Given the description of an element on the screen output the (x, y) to click on. 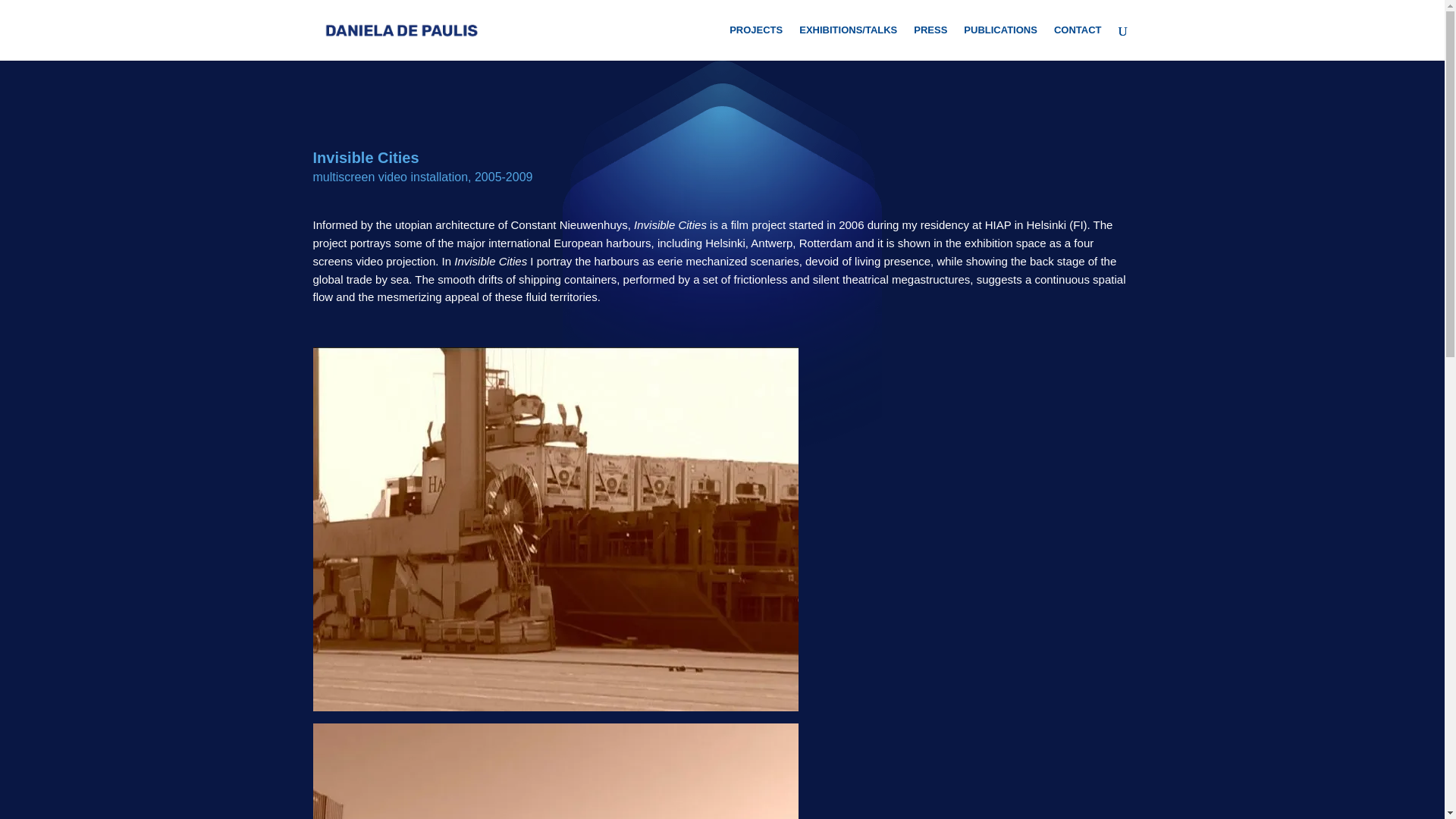
PROJECTS (756, 42)
PUBLICATIONS (999, 42)
00-invisibile-city-1-640x480 (555, 771)
CONTACT (1078, 42)
PRESS (930, 42)
